Given the description of an element on the screen output the (x, y) to click on. 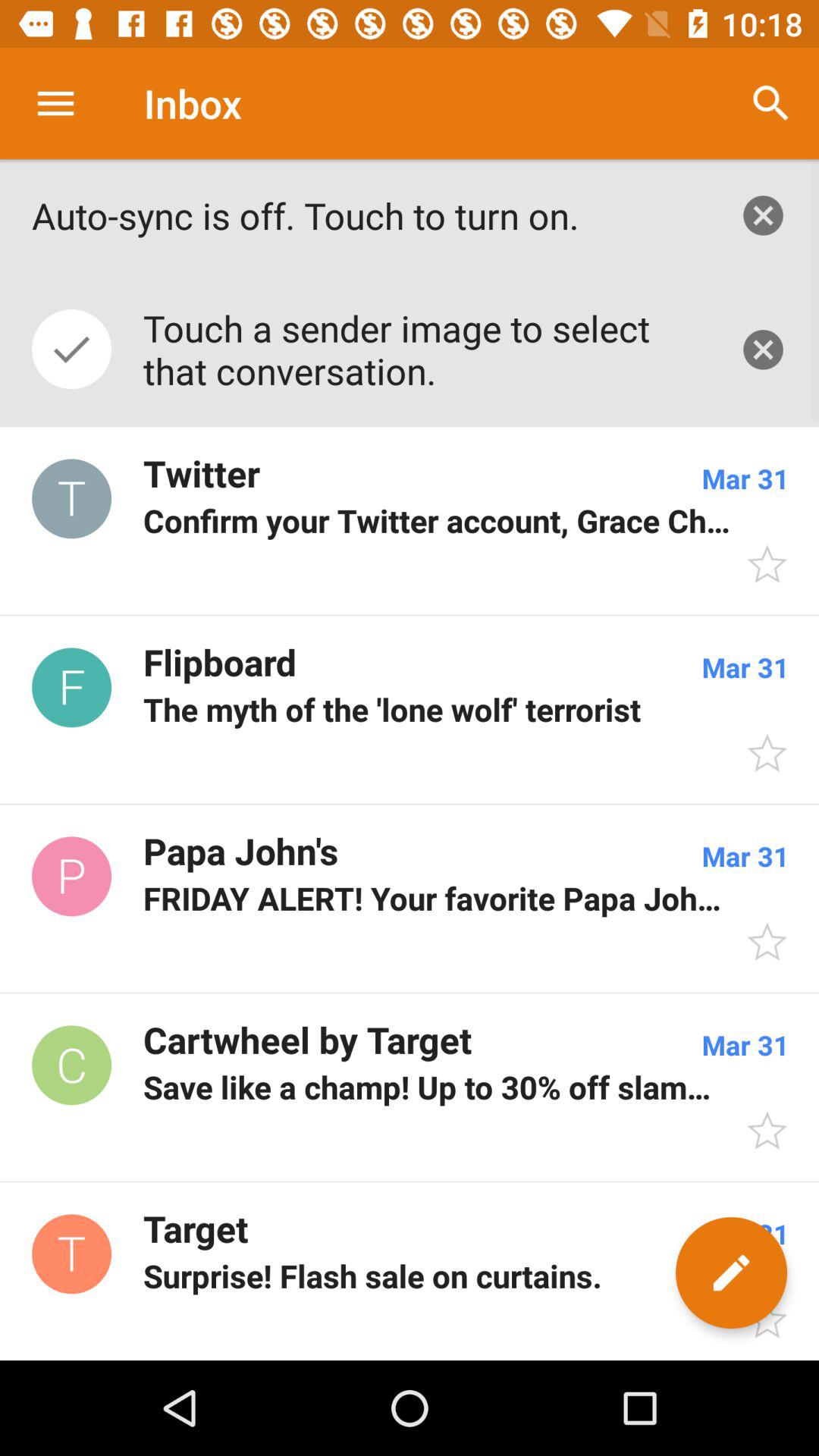
jump to the auto sync is (369, 215)
